Given the description of an element on the screen output the (x, y) to click on. 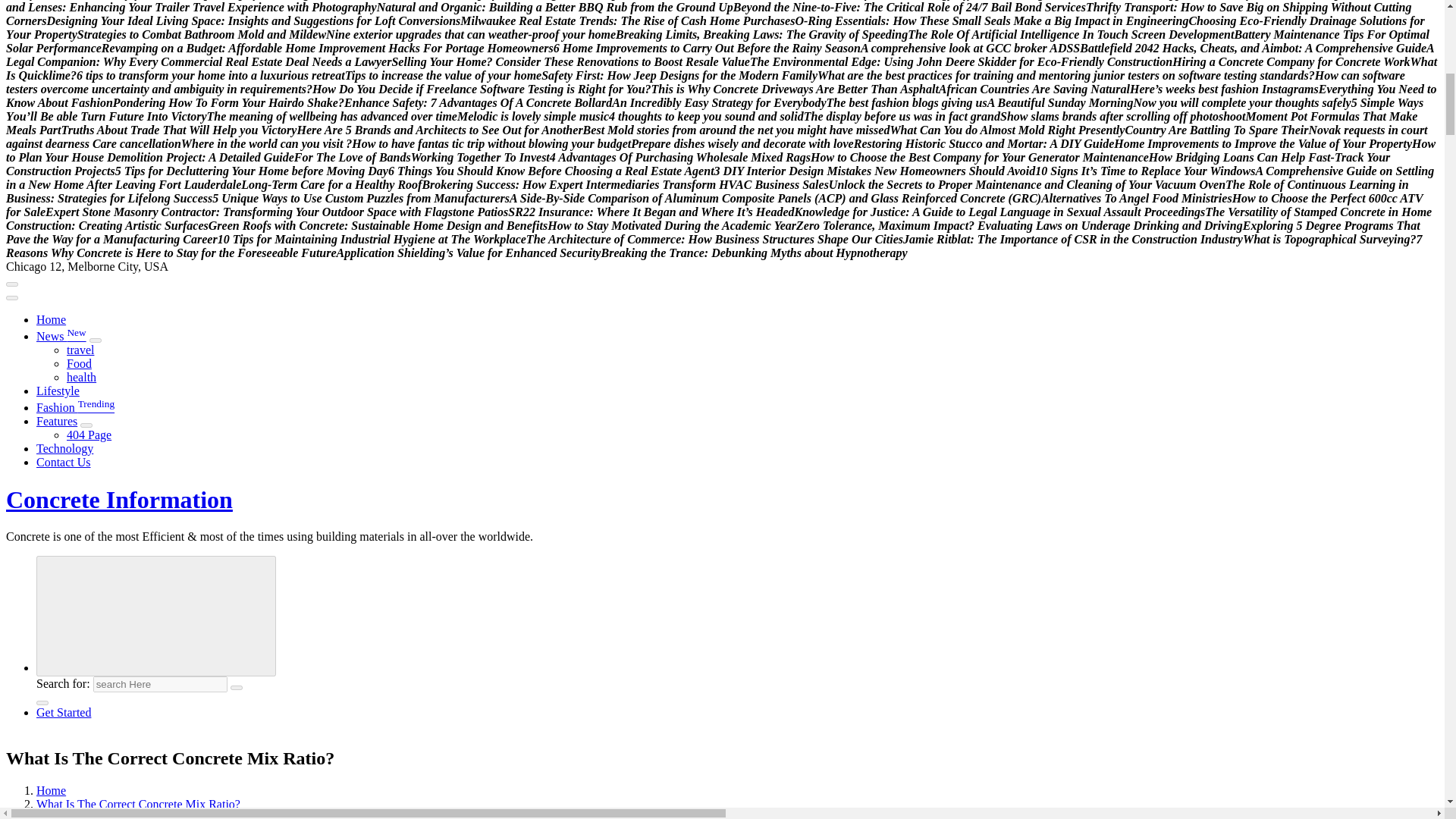
Home (50, 318)
Technology (64, 448)
Lifestyle (58, 390)
travel (80, 349)
Food (78, 363)
Home (50, 318)
Features (56, 420)
News New (60, 336)
Fashion Trending (75, 407)
Contact Us (63, 461)
404 Page (89, 434)
News New (60, 336)
health (81, 377)
